Given the description of an element on the screen output the (x, y) to click on. 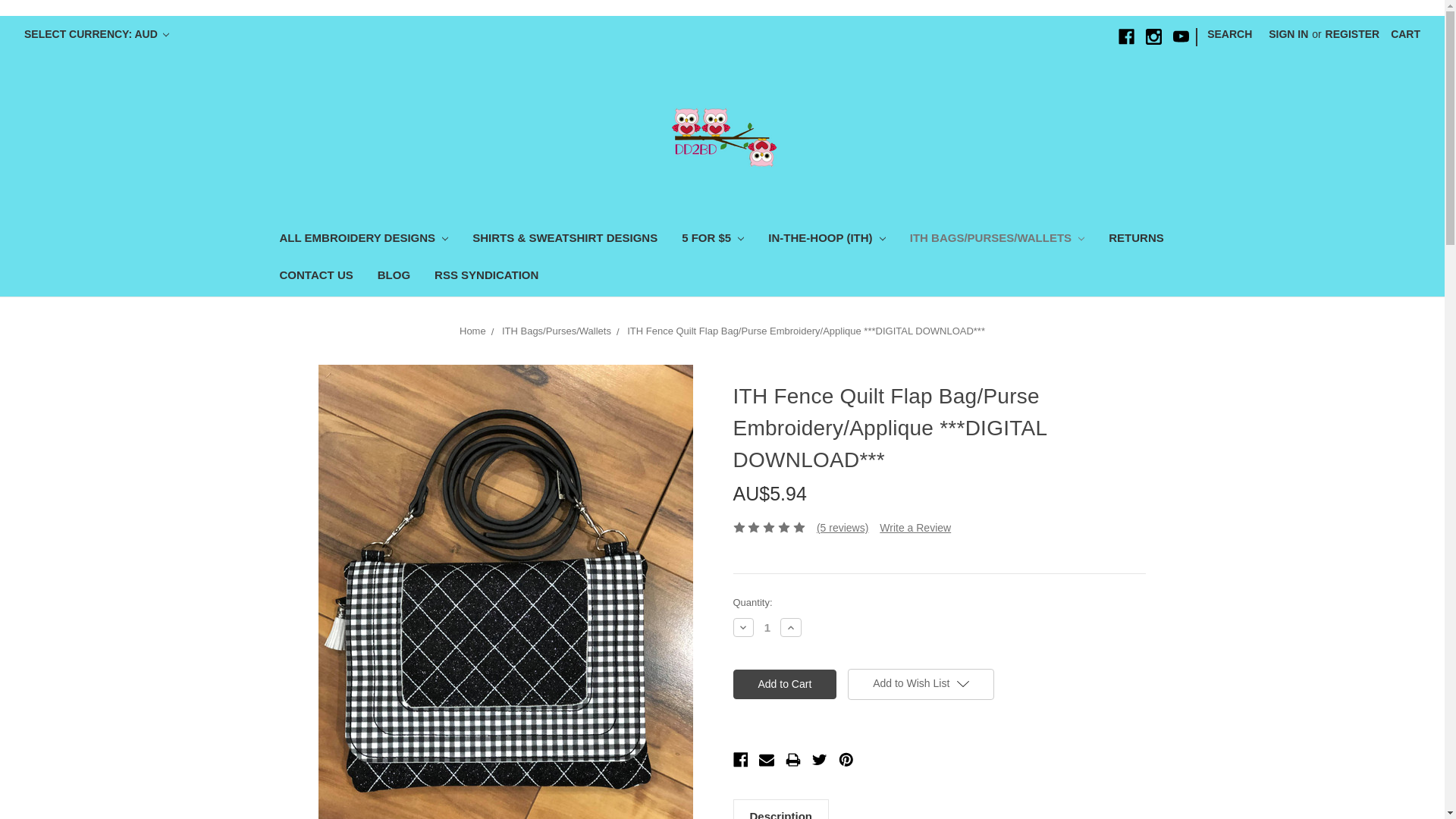
DoDare2BDifferent (722, 135)
SEARCH (1229, 34)
1 (767, 626)
REGISTER (1353, 34)
CART (1404, 34)
Add to Cart (783, 684)
SELECT CURRENCY: AUD (96, 34)
SIGN IN (1288, 34)
ALL EMBROIDERY DESIGNS (363, 239)
